Given the description of an element on the screen output the (x, y) to click on. 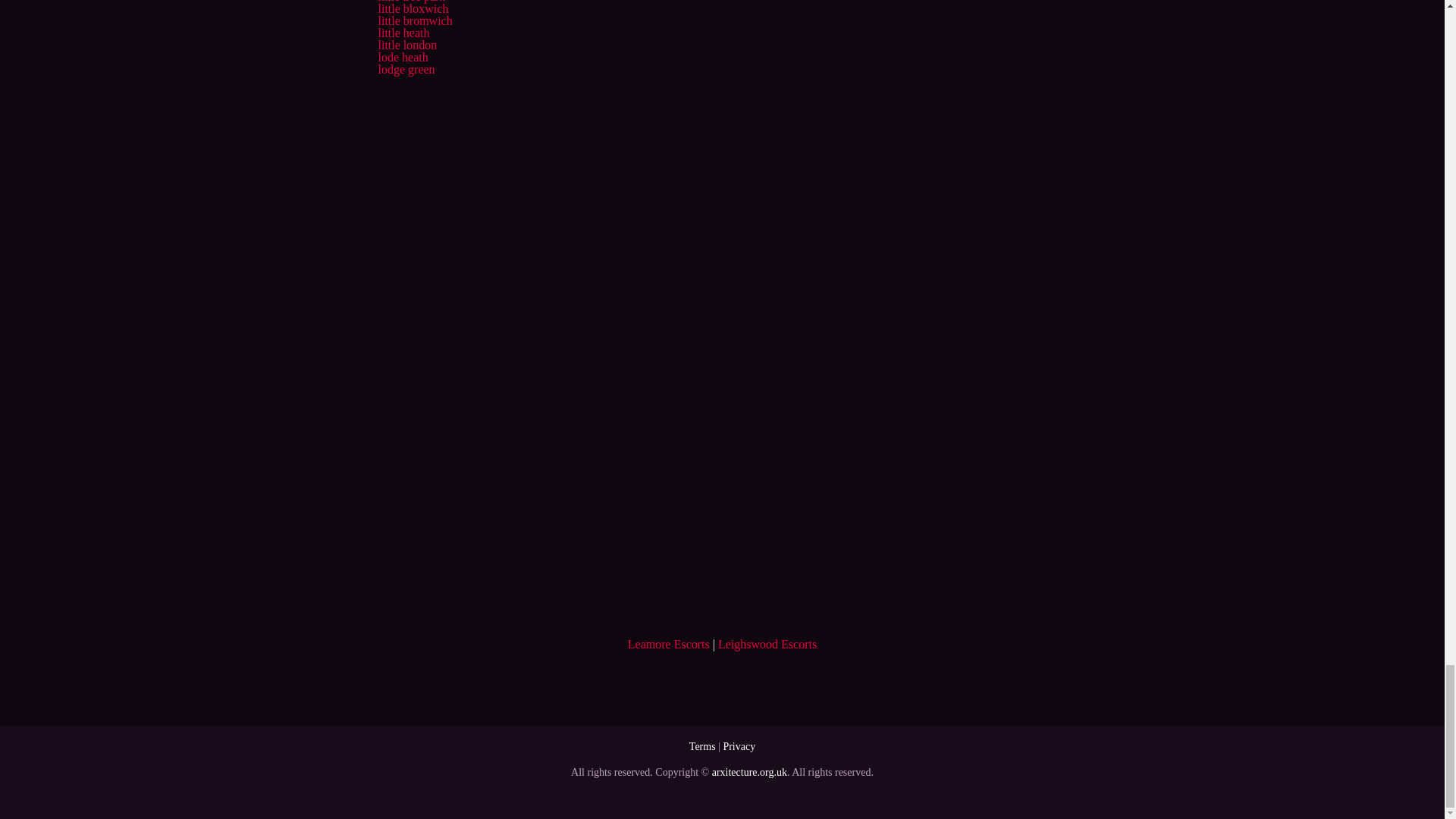
lodge green (405, 69)
Terms (702, 746)
little london (406, 44)
little heath (403, 32)
lode heath (402, 56)
Privacy (738, 746)
Terms (702, 746)
Leamore Escorts (668, 644)
arxitecture.org.uk (749, 772)
little bromwich (414, 20)
Leighswood Escorts (766, 644)
little bloxwich (412, 8)
lime tree park (411, 1)
Privacy (738, 746)
